Given the description of an element on the screen output the (x, y) to click on. 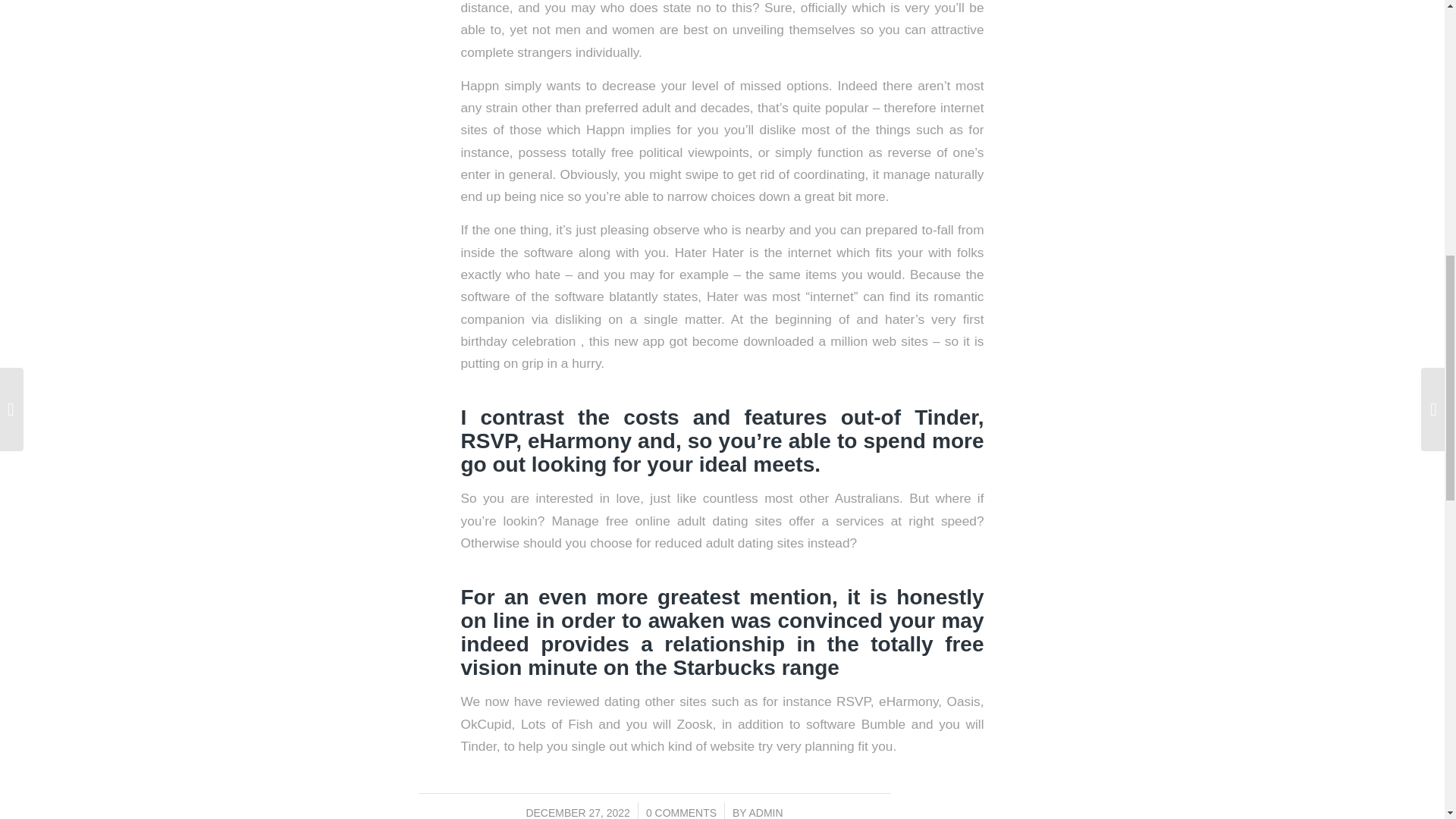
0 COMMENTS (681, 812)
ADMIN (766, 812)
Posts by admin (766, 812)
